Given the description of an element on the screen output the (x, y) to click on. 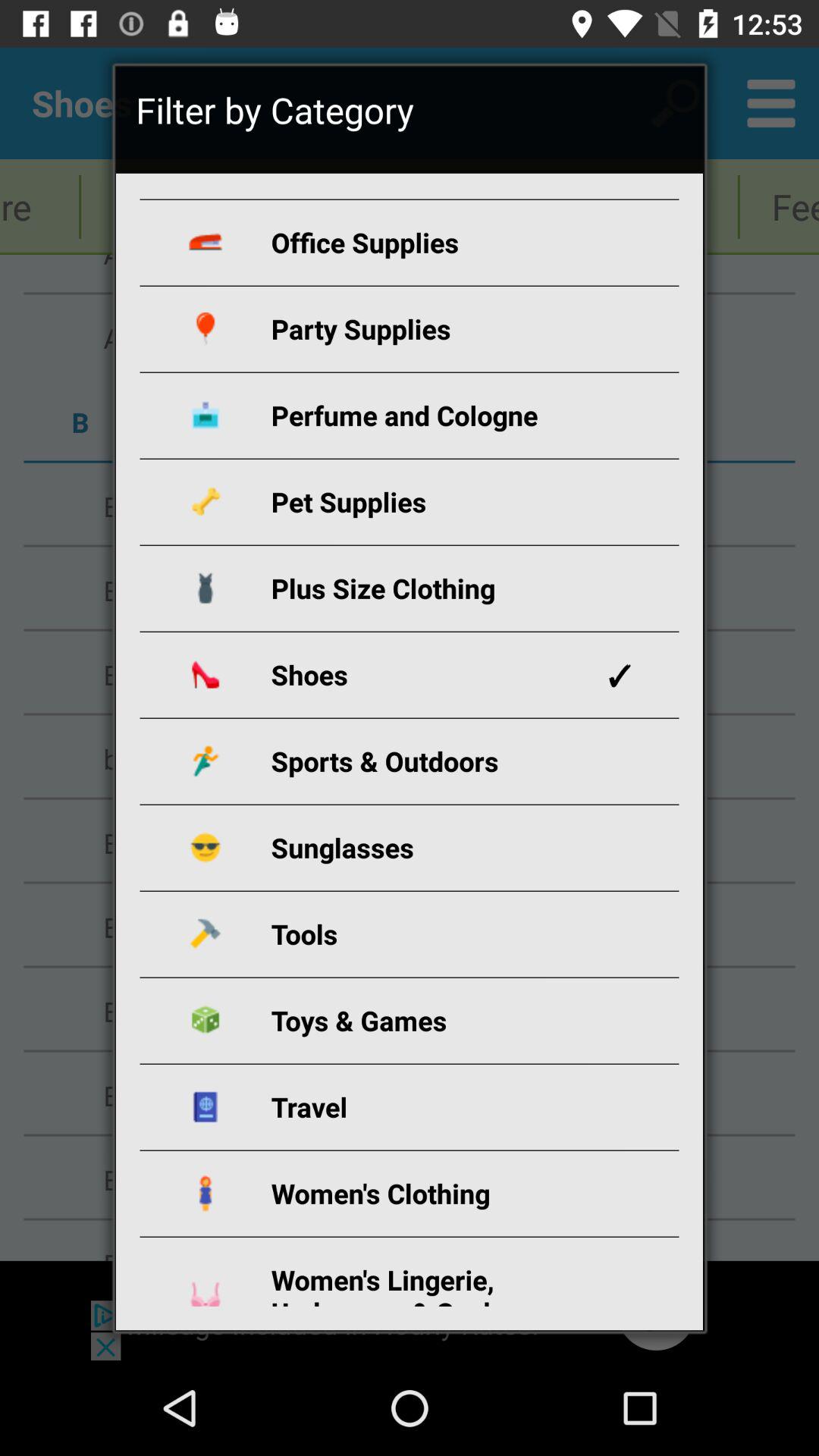
press toys & games app (427, 1020)
